Given the description of an element on the screen output the (x, y) to click on. 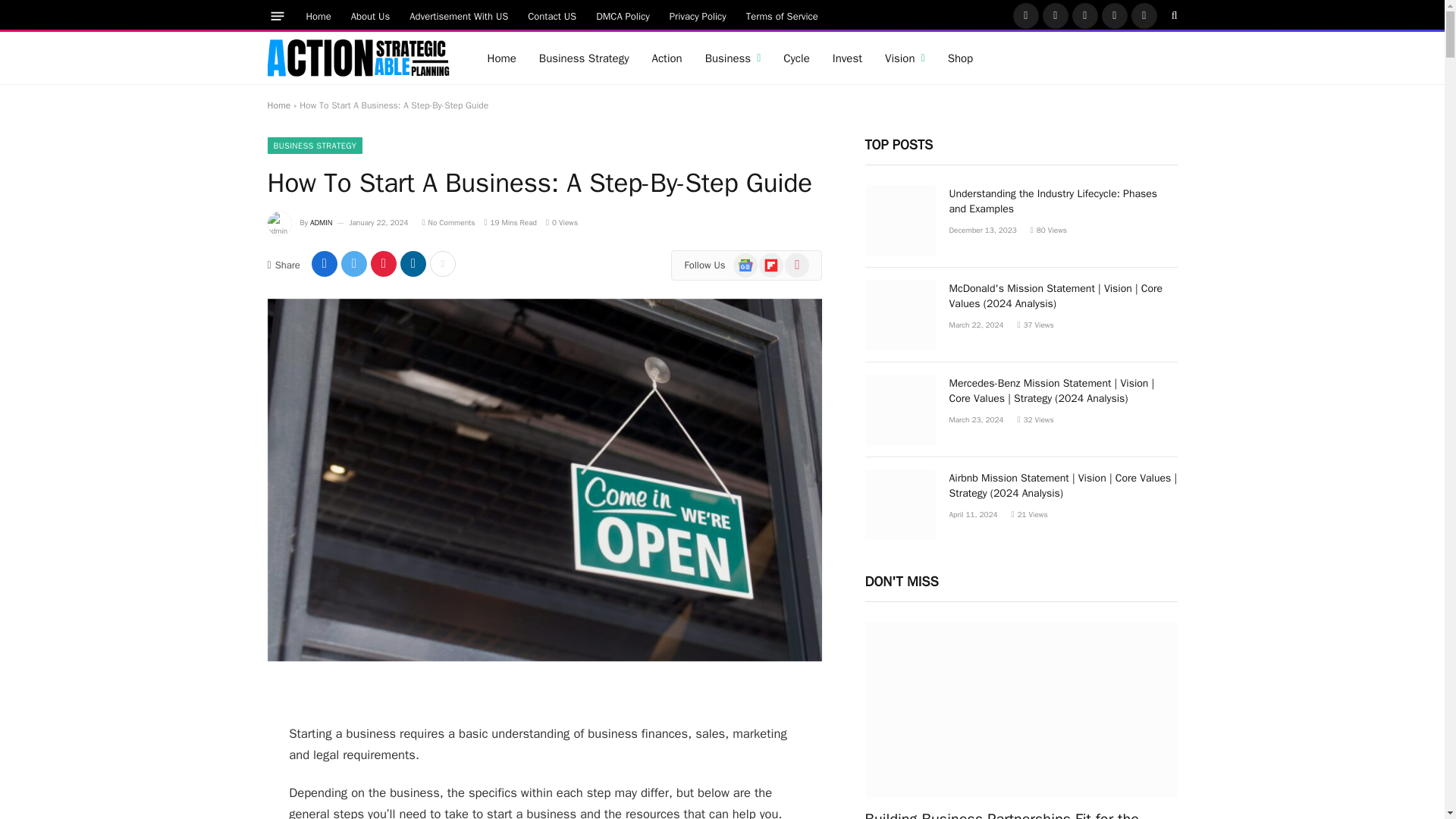
Actionable Strategic Planning (357, 58)
Home (317, 15)
Facebook (1026, 15)
Share on Pinterest (383, 263)
Home (501, 57)
Share on LinkedIn (413, 263)
About Us (369, 15)
Posts by admin (321, 222)
Terms of Service (782, 15)
Instagram (1084, 15)
0 Article Views (562, 222)
Contact US (552, 15)
Share on Facebook (324, 263)
Advertisement With US (458, 15)
DMCA Policy (622, 15)
